Given the description of an element on the screen output the (x, y) to click on. 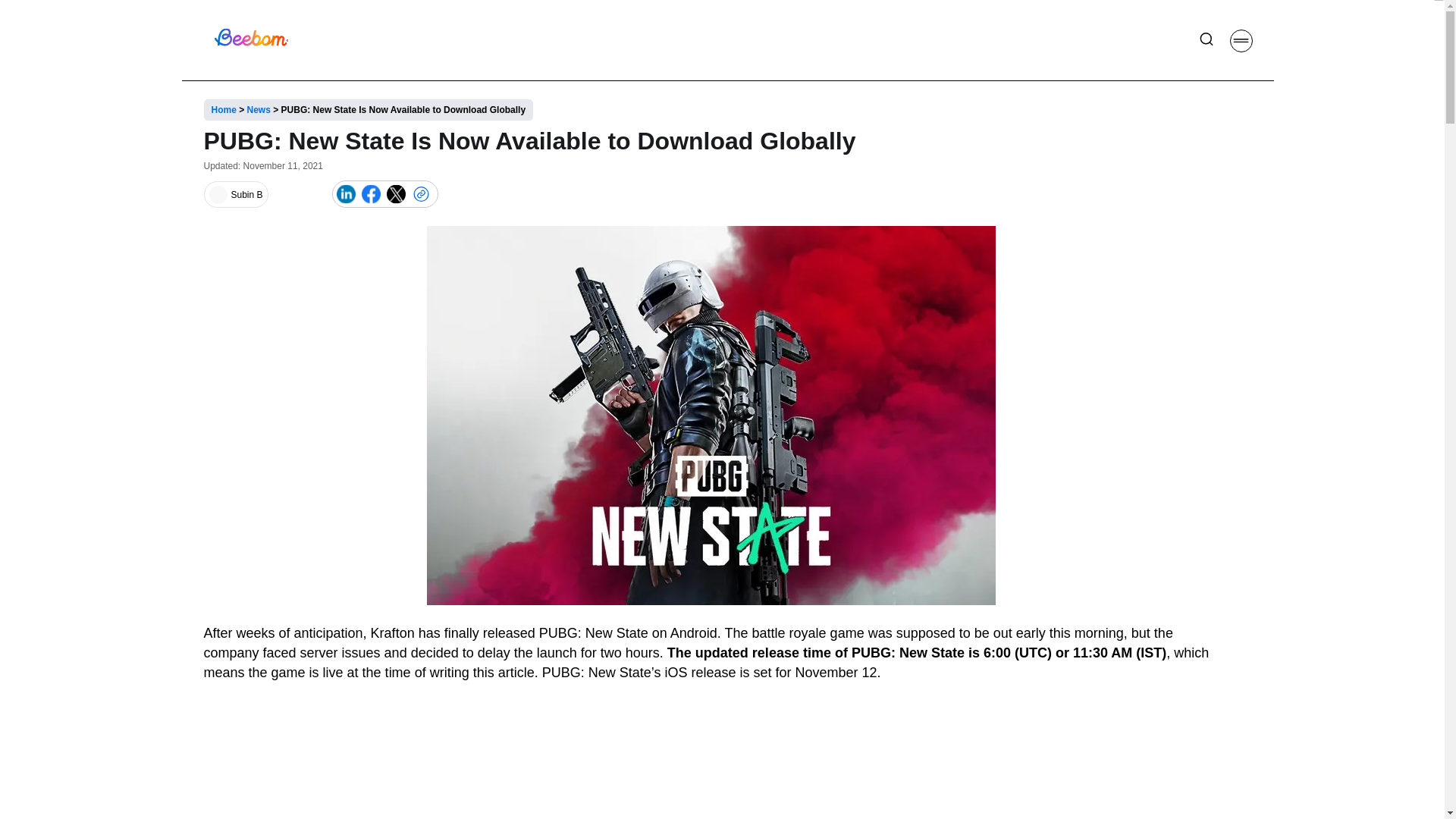
3rd party ad content (710, 757)
